Given the description of an element on the screen output the (x, y) to click on. 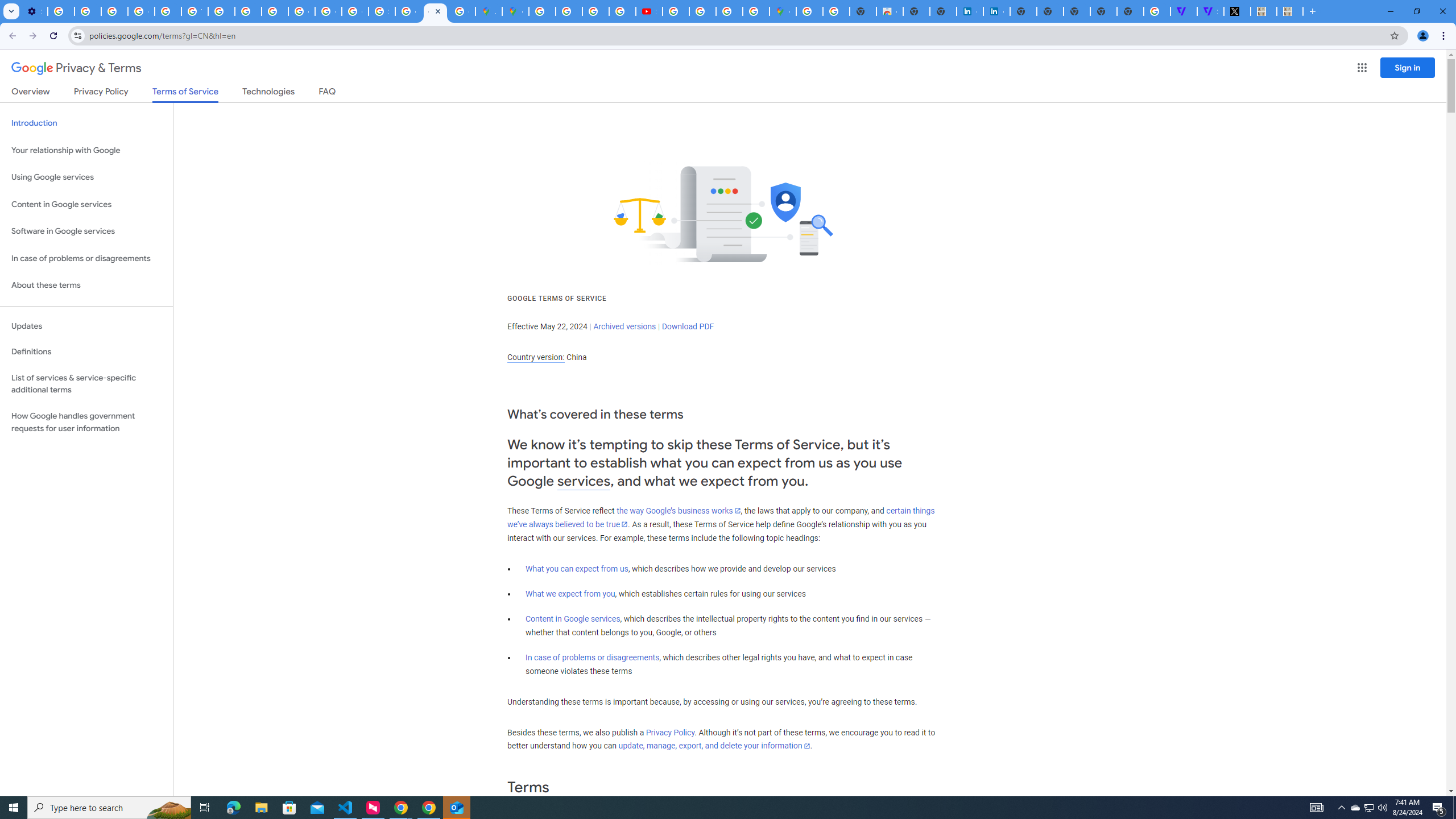
List of services & service-specific additional terms (86, 383)
Cookie Policy | LinkedIn (996, 11)
services (583, 480)
Delete photos & videos - Computer - Google Photos Help (61, 11)
MILEY CYRUS. (1289, 11)
Miley Cyrus (@MileyCyrus) / X (1236, 11)
